Given the description of an element on the screen output the (x, y) to click on. 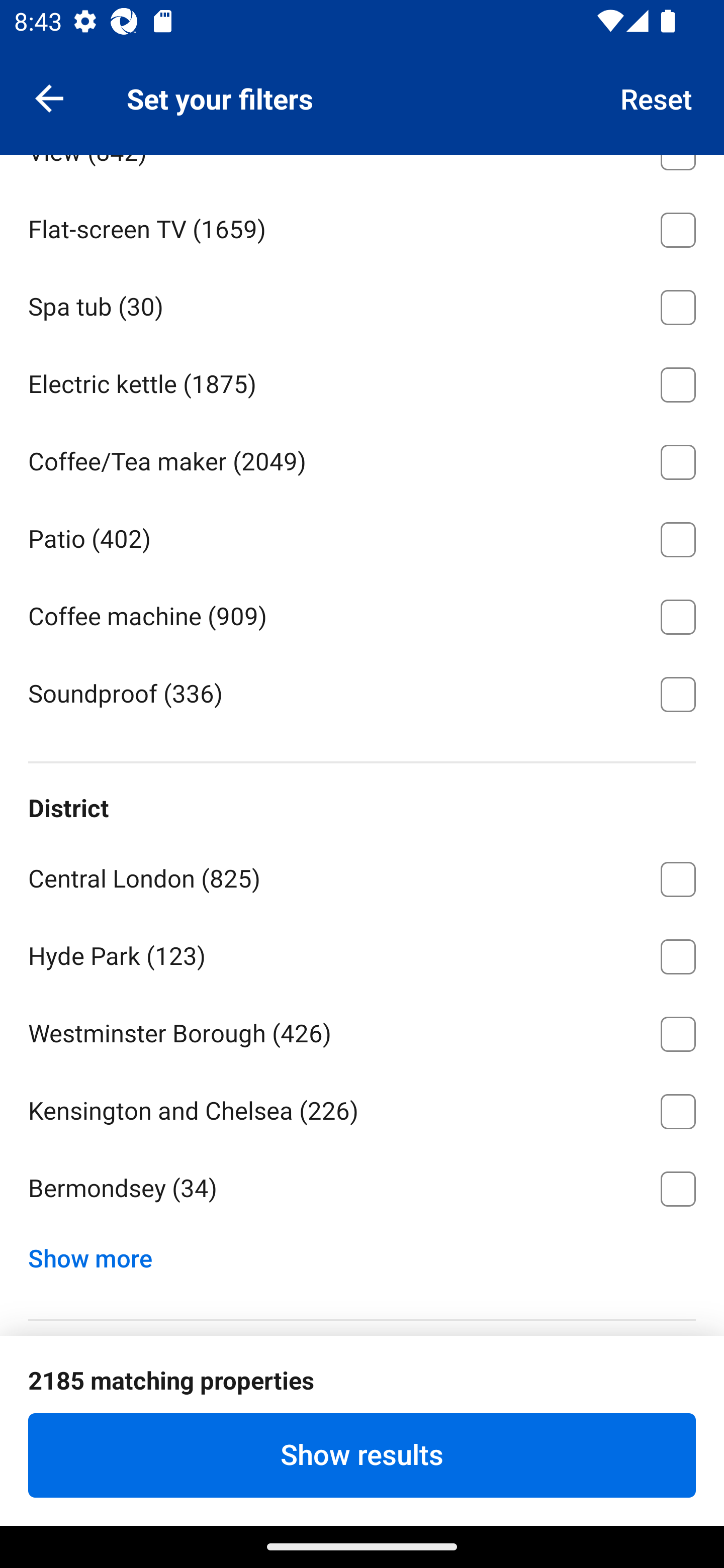
Kitchenette ⁦(514) (361, 71)
Navigate up (49, 97)
Reset (656, 97)
Flat-screen TV ⁦(1659) (361, 226)
Spa tub ⁦(30) (361, 303)
Electric kettle ⁦(1875) (361, 381)
Coffee/Tea maker ⁦(2049) (361, 458)
Patio ⁦(402) (361, 536)
Coffee machine ⁦(909) (361, 613)
Soundproof ⁦(336) (361, 692)
Central London ⁦(825) (361, 875)
Hyde Park ⁦(123) (361, 953)
Westminster Borough ⁦(426) (361, 1030)
Kensington and Chelsea ⁦(226) (361, 1107)
Bermondsey ⁦(34) (361, 1188)
Show more (97, 1253)
Show results (361, 1454)
